Given the description of an element on the screen output the (x, y) to click on. 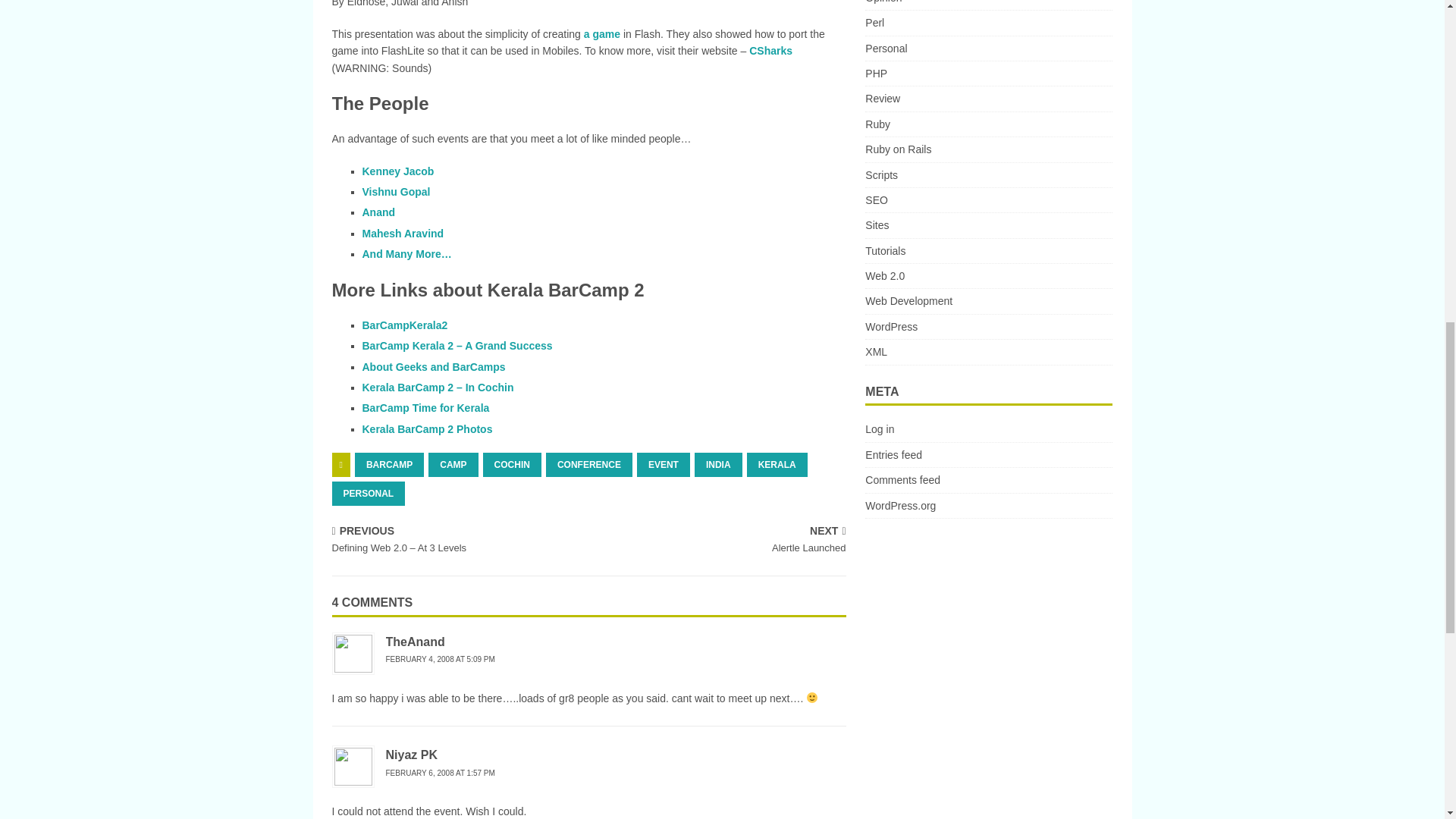
KERALA (777, 464)
Vishnu Gopal (396, 191)
INDIA (718, 464)
CSharks (770, 50)
a game (601, 33)
EVENT (663, 464)
BarCamp Time for Kerala (425, 408)
Anand (379, 212)
CAMP (452, 464)
COCHIN (512, 464)
Balancing Mathai (601, 33)
BarCampKerala2 (405, 325)
Kenney Jacob (397, 171)
Kerala BarCamp 2 Photos (427, 428)
CONFERENCE (588, 464)
